Given the description of an element on the screen output the (x, y) to click on. 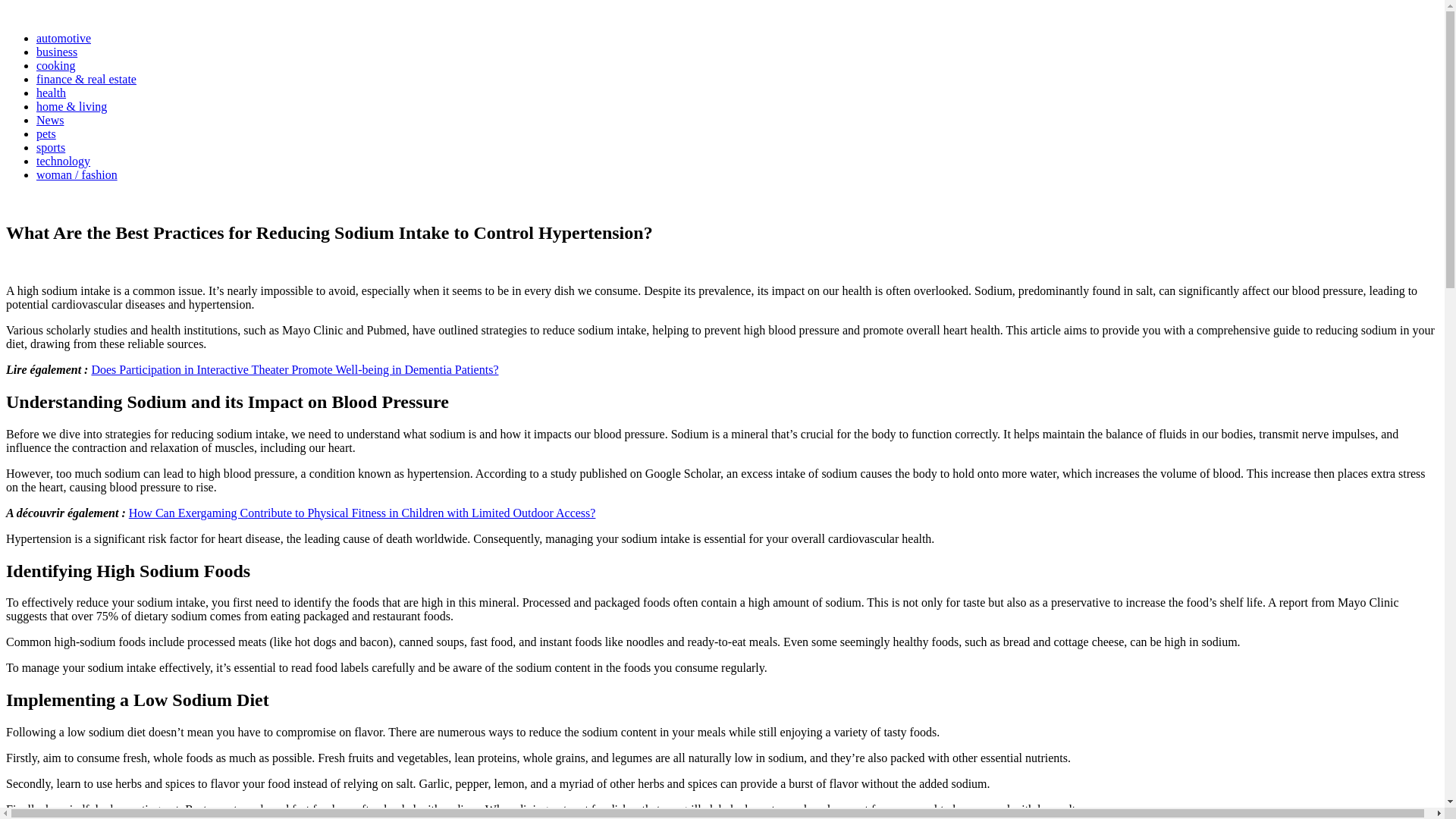
sports (50, 146)
health (19, 200)
pets (46, 133)
cooking (55, 65)
business (56, 51)
technology (63, 160)
